Given the description of an element on the screen output the (x, y) to click on. 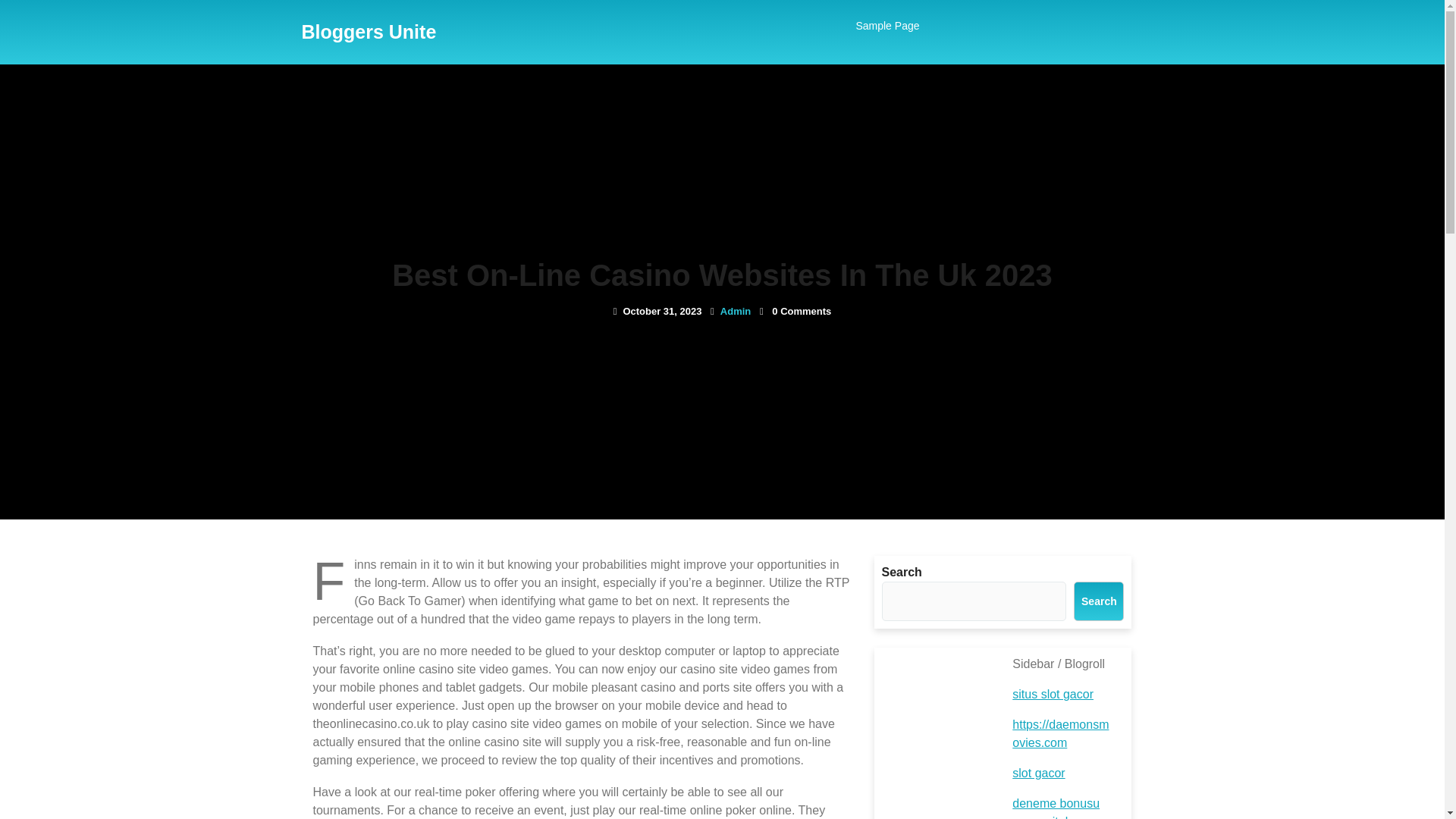
slot gacor (1037, 772)
Admin (735, 310)
Search (1099, 600)
Sample Page (886, 26)
situs slot gacor (1052, 694)
Bloggers Unite (368, 31)
deneme bonusu veren siteler (1055, 807)
